Given the description of an element on the screen output the (x, y) to click on. 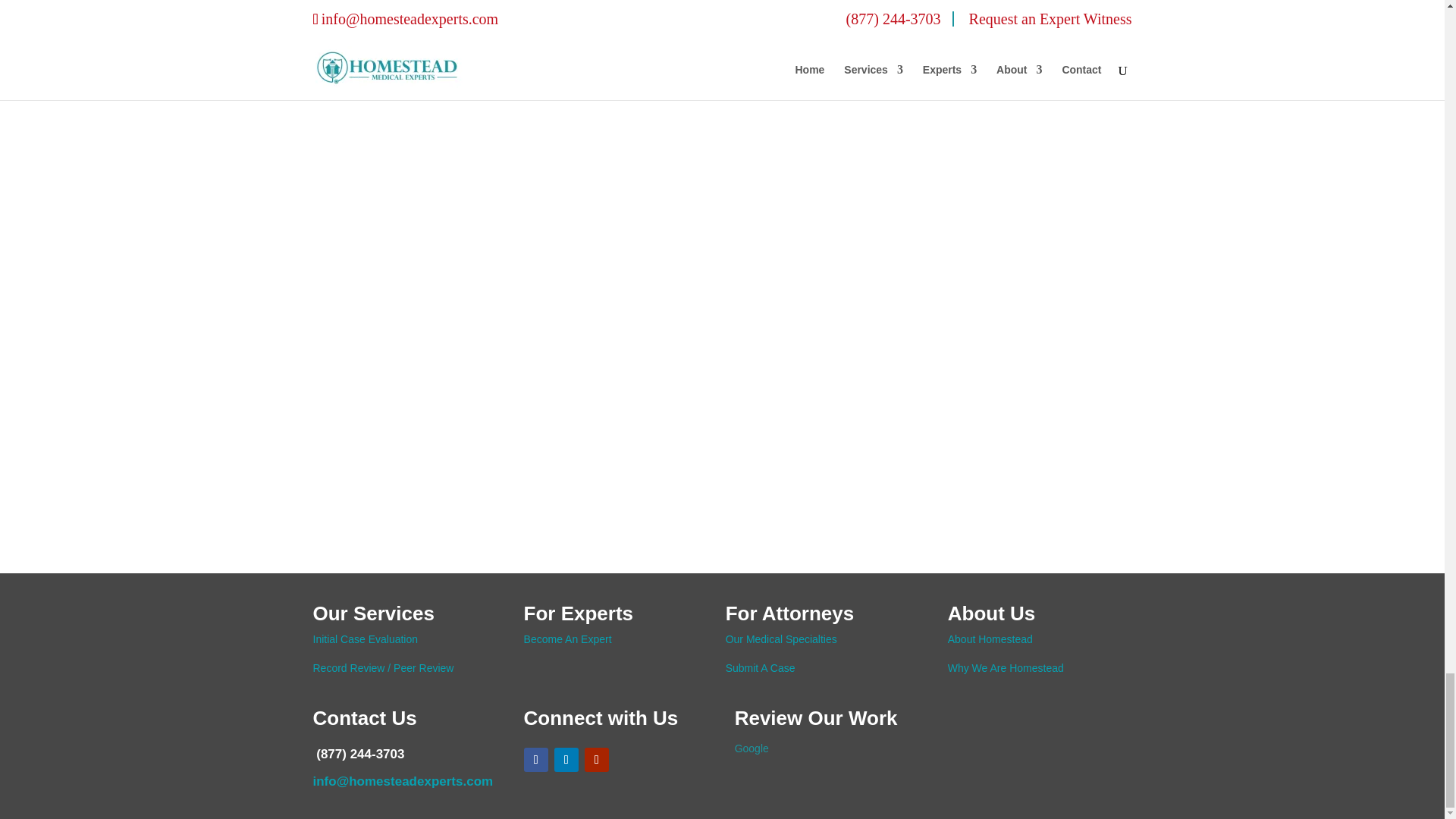
Follow on LinkedIn (566, 759)
Follow on Facebook (536, 759)
Follow on Youtube (596, 759)
